Given the description of an element on the screen output the (x, y) to click on. 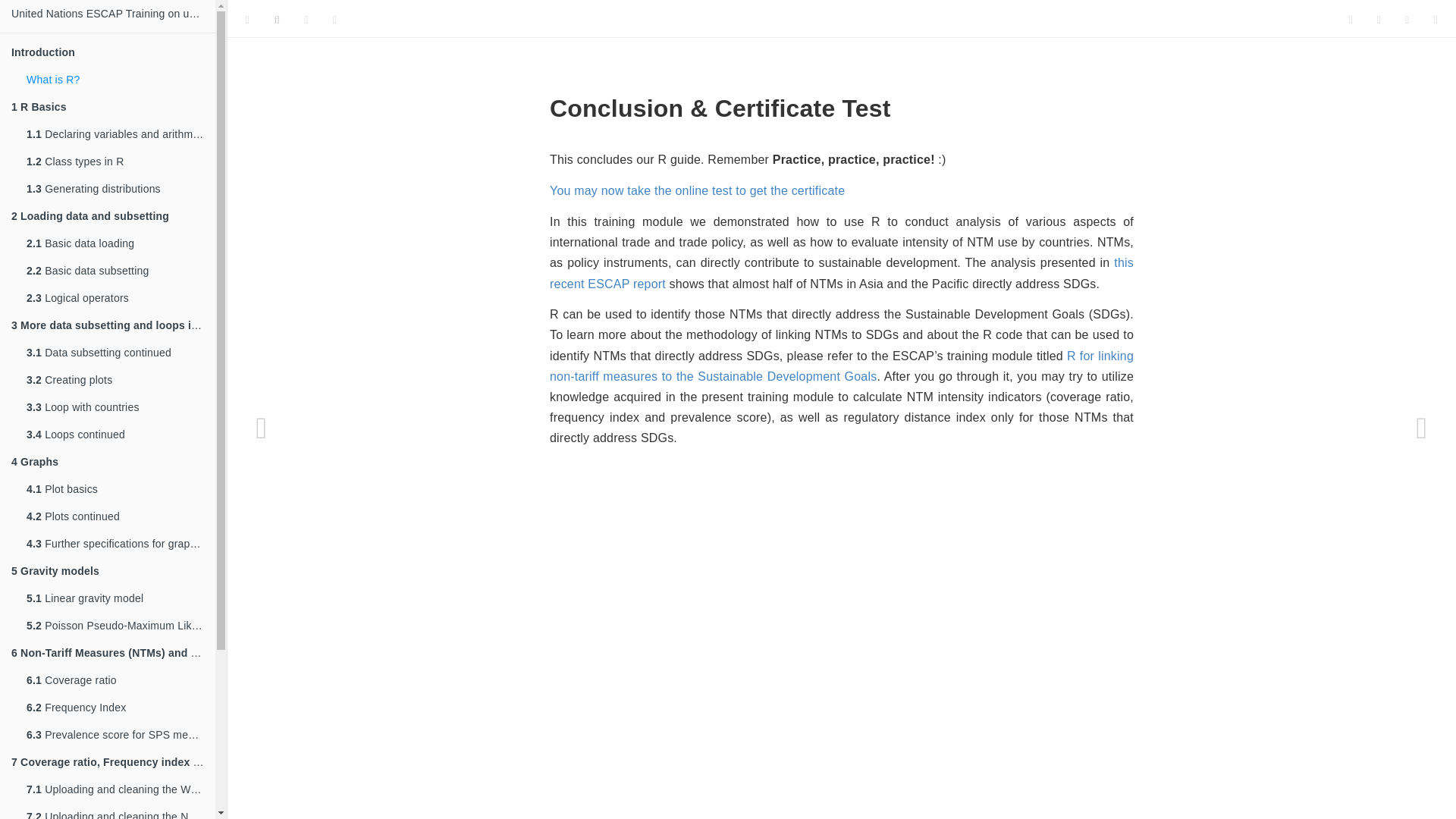
1.2 Class types in R (114, 161)
4.2 Plots continued (114, 515)
2.1 Basic data loading (114, 243)
Introduction (107, 52)
2.3 Logical operators (114, 298)
3.2 Creating plots (114, 379)
5.1 Linear gravity model (114, 597)
1.1 Declaring variables and arithmetics in R (114, 134)
What is R? (114, 79)
3.4 Loops continued (114, 433)
United Nations ESCAP Training on using R for trade analysis (107, 13)
6.3 Prevalence score for SPS measures (114, 734)
